Given the description of an element on the screen output the (x, y) to click on. 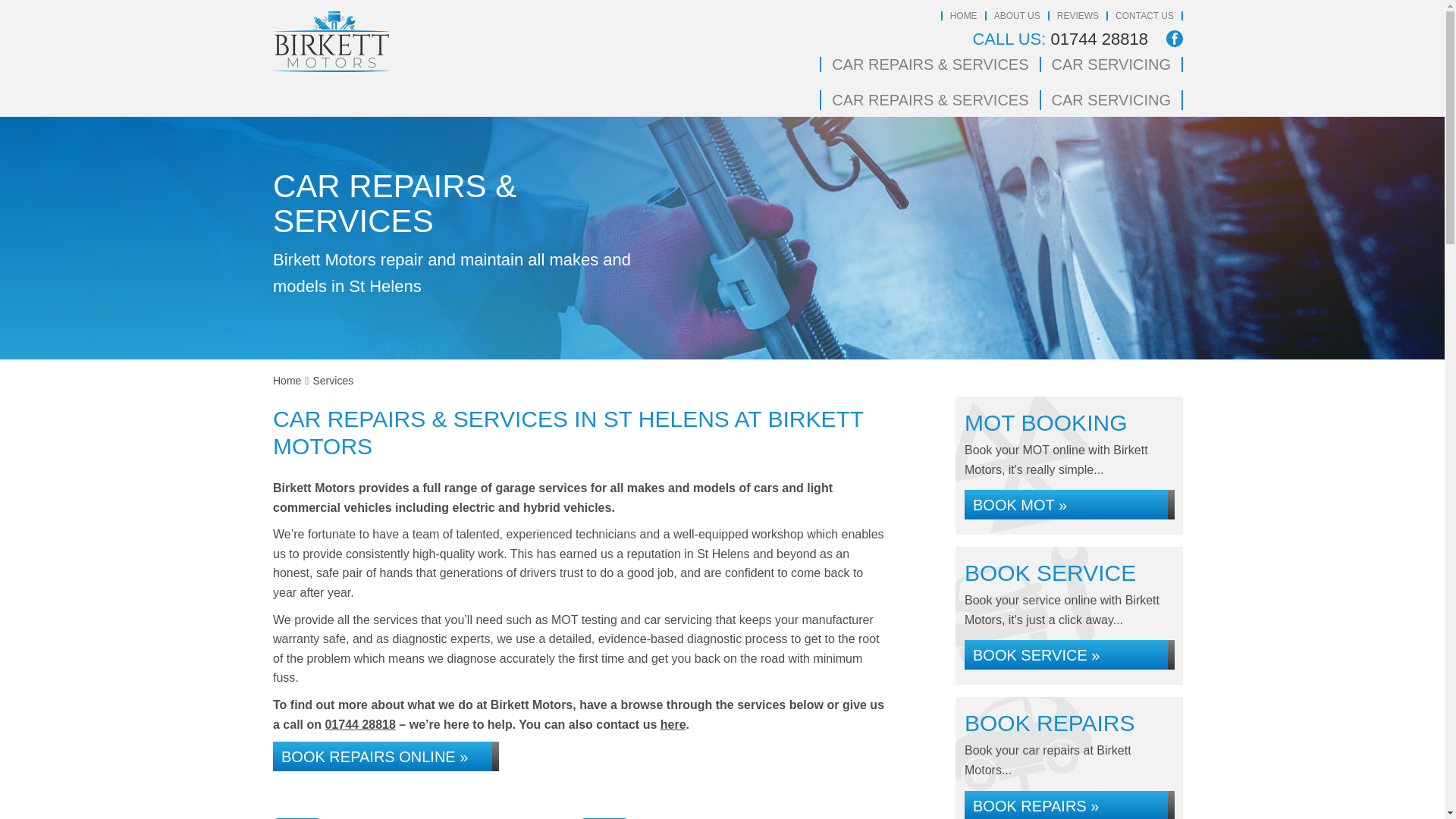
CONTACT US (1144, 15)
ABOUT US (1017, 15)
HOME (963, 15)
REVIEWS (1078, 15)
CAR SERVICING (1111, 64)
CALL US: 01744 28818 (1060, 39)
